Given the description of an element on the screen output the (x, y) to click on. 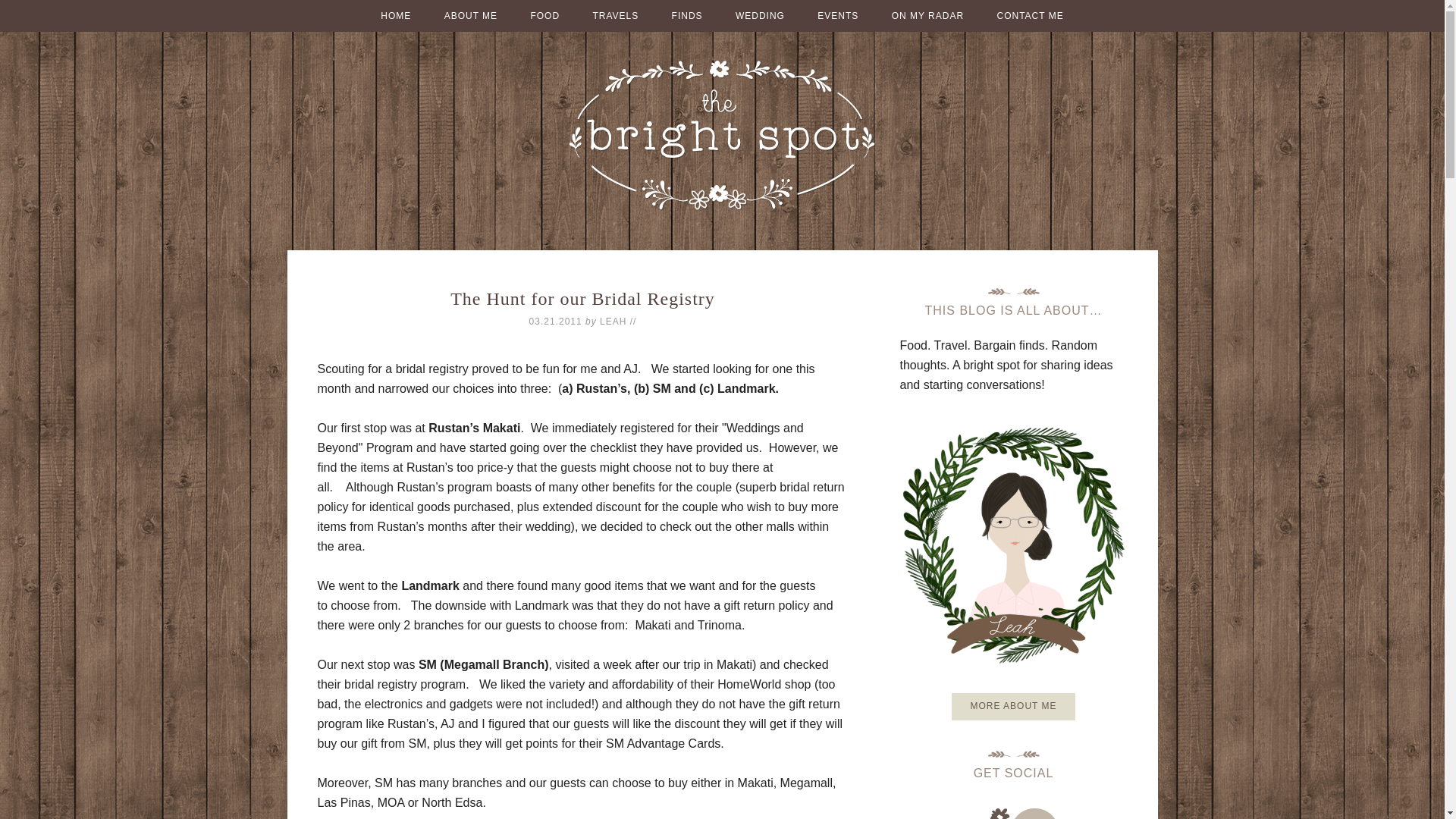
ABOUT ME (470, 15)
HOME (395, 15)
FINDS (686, 15)
WEDDING (759, 15)
TRAVELS (614, 15)
EVENTS (837, 15)
LEAH (612, 321)
CONTACT ME (1029, 15)
ON MY RADAR (927, 15)
MORE ABOUT ME (1013, 706)
FOOD (545, 15)
